Given the description of an element on the screen output the (x, y) to click on. 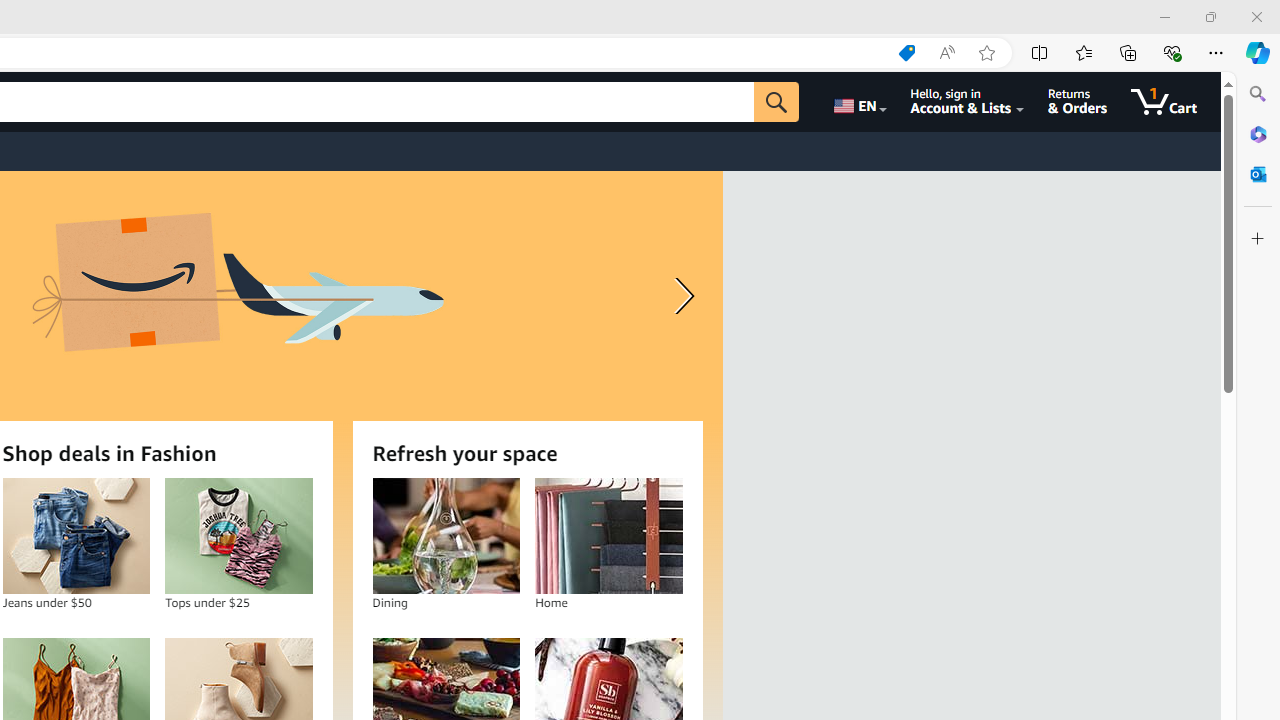
Shopping in Microsoft Edge (906, 53)
Match Case (Alt+C) (899, 107)
Match Whole Word (Alt+W) (921, 107)
Find in Selection (Alt+L) (1091, 106)
Choose a language for shopping. (858, 101)
Title actions (1089, 16)
Customize Layout... (1128, 16)
Tops under $25 (238, 536)
Microsoft 365 (1258, 133)
Home (608, 536)
Editor actions (1226, 52)
Tops under $25 (239, 536)
Dining (445, 536)
Home (609, 536)
Close (1256, 16)
